Given the description of an element on the screen output the (x, y) to click on. 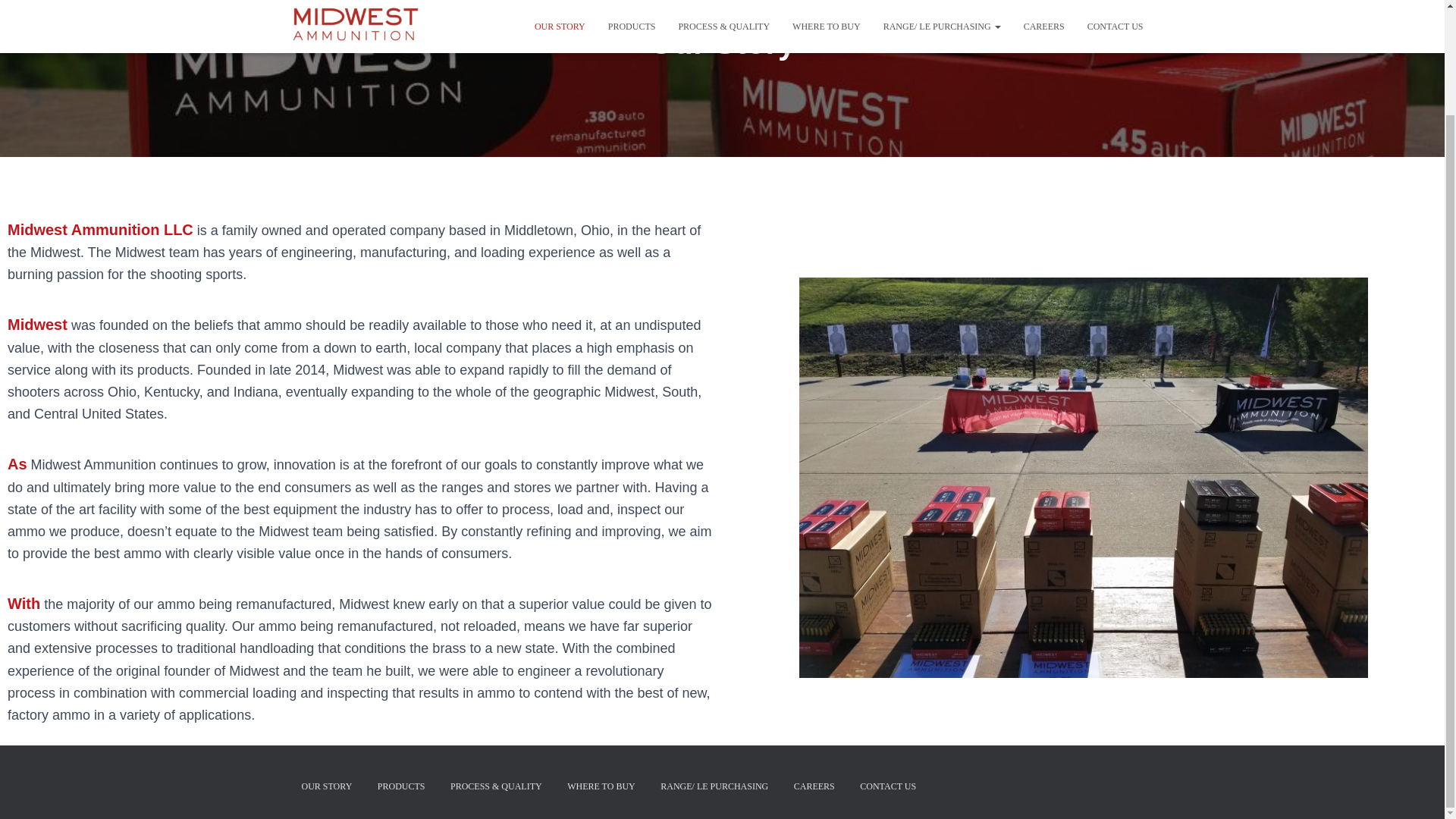
PRODUCTS (401, 786)
CONTACT US (887, 786)
OUR STORY (325, 786)
WHERE TO BUY (601, 786)
CAREERS (814, 786)
